Given the description of an element on the screen output the (x, y) to click on. 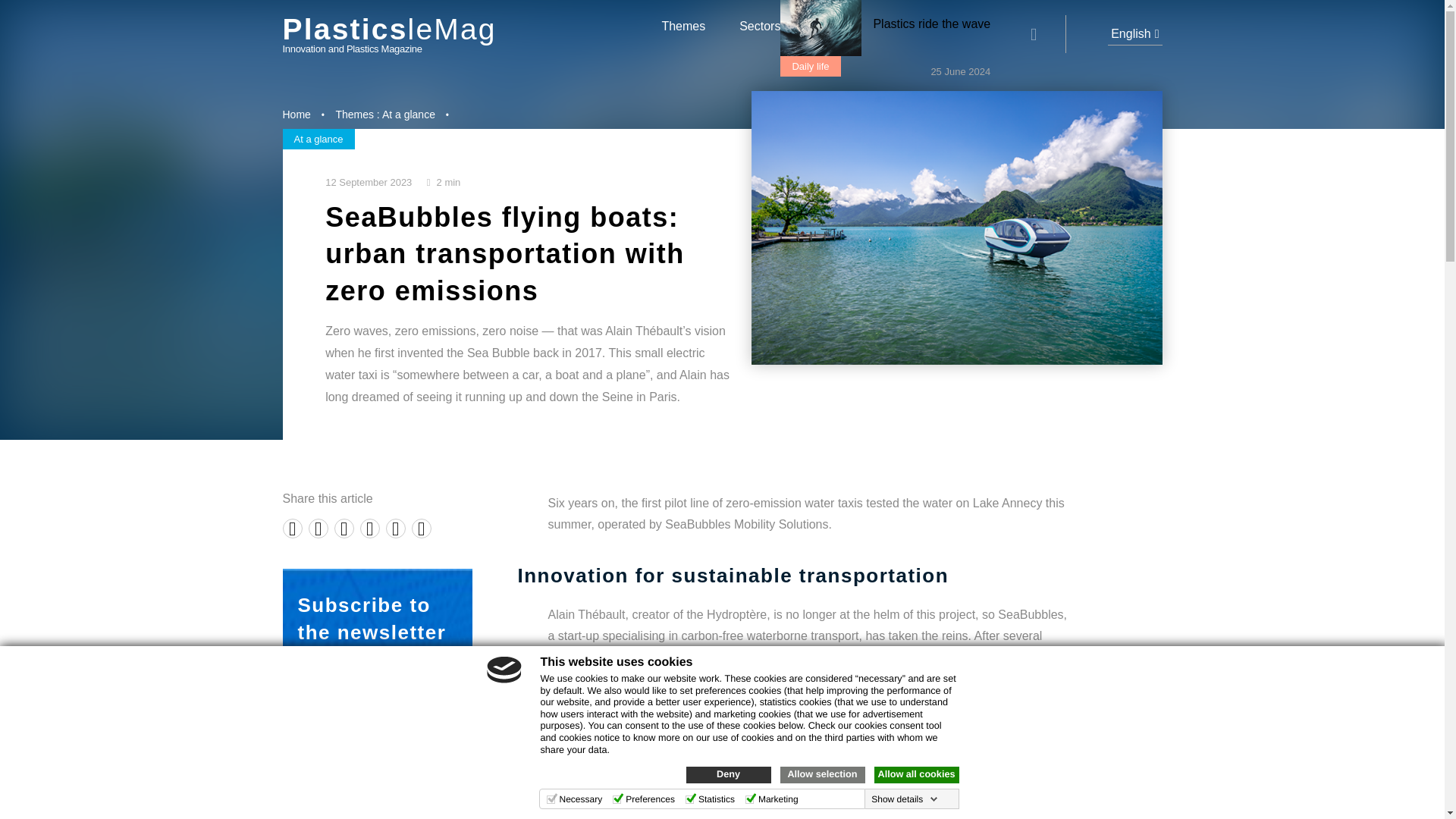
Allow selection (821, 774)
Allow all cookies (915, 774)
Show details (903, 799)
Deny (727, 774)
